Given the description of an element on the screen output the (x, y) to click on. 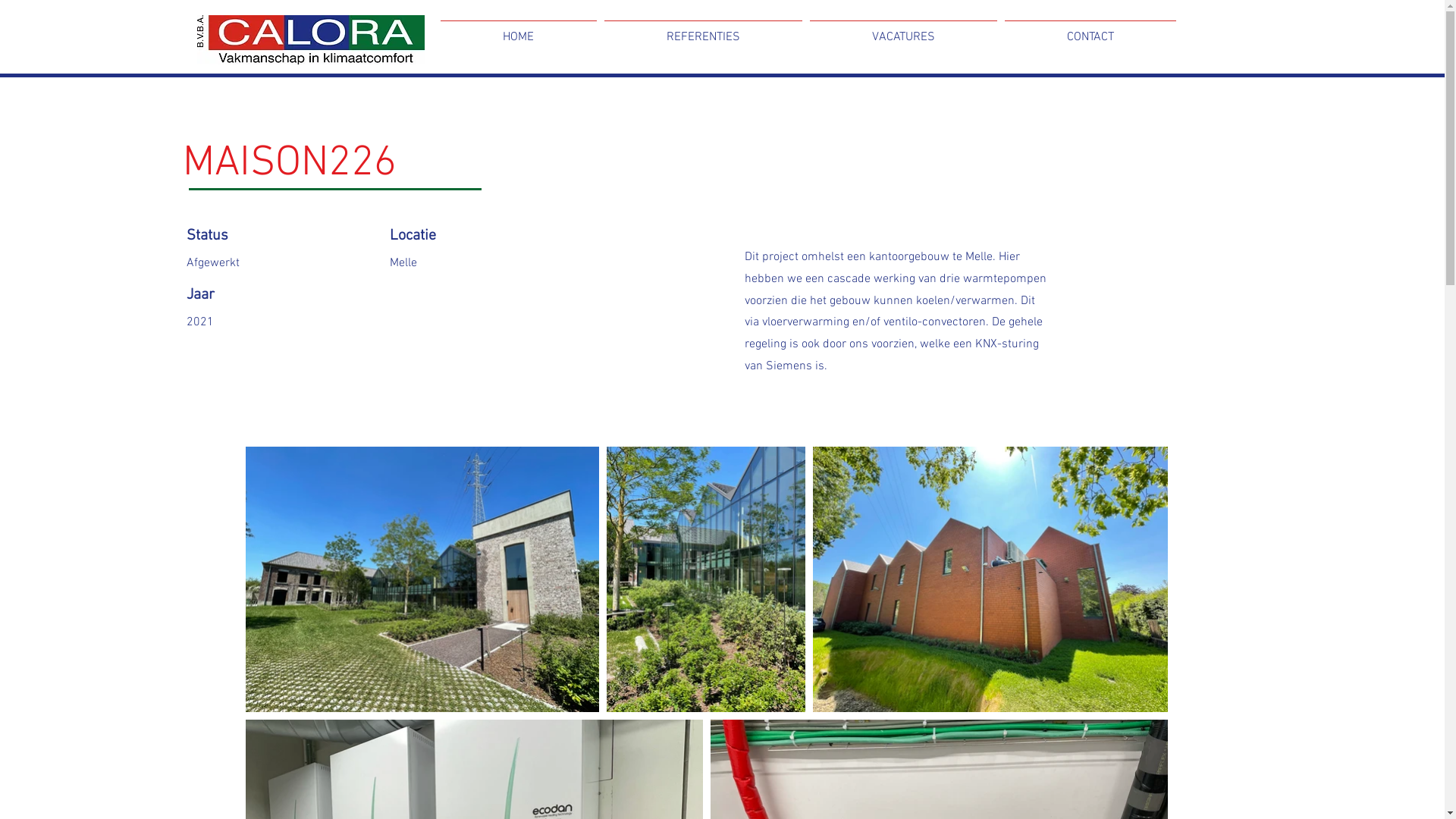
REFERENTIES Element type: text (703, 30)
CONTACT Element type: text (1090, 30)
VACATURES Element type: text (902, 30)
HOME Element type: text (518, 30)
